Given the description of an element on the screen output the (x, y) to click on. 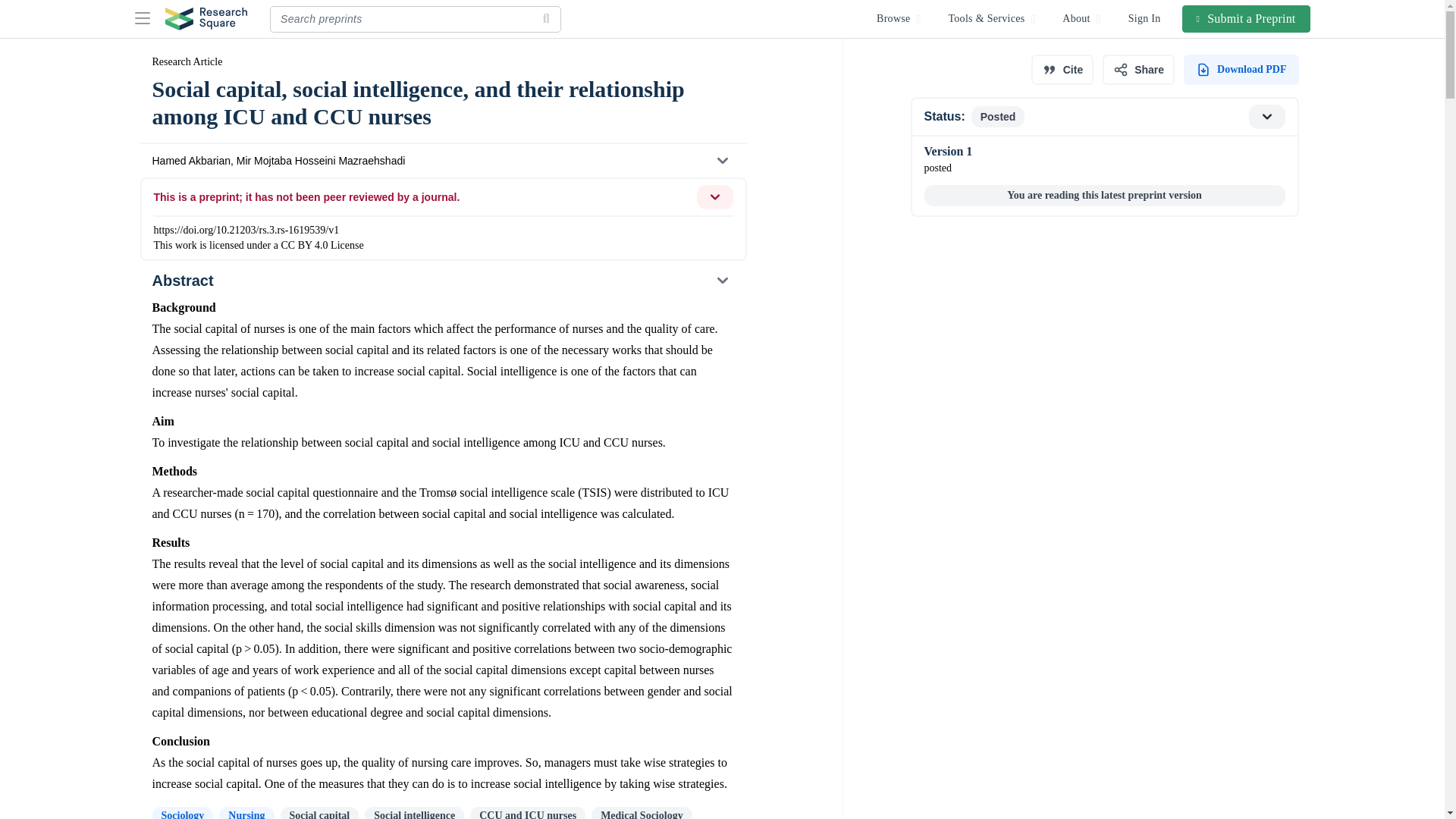
Hamed Akbarian, Mir Mojtaba Hosseini Mazraehshadi (442, 160)
Abstract (442, 280)
Sociology (181, 812)
Submit a Preprint (1246, 18)
Cite (1061, 69)
Share (1138, 69)
Sign In (1144, 18)
Nursing (246, 812)
